Given the description of an element on the screen output the (x, y) to click on. 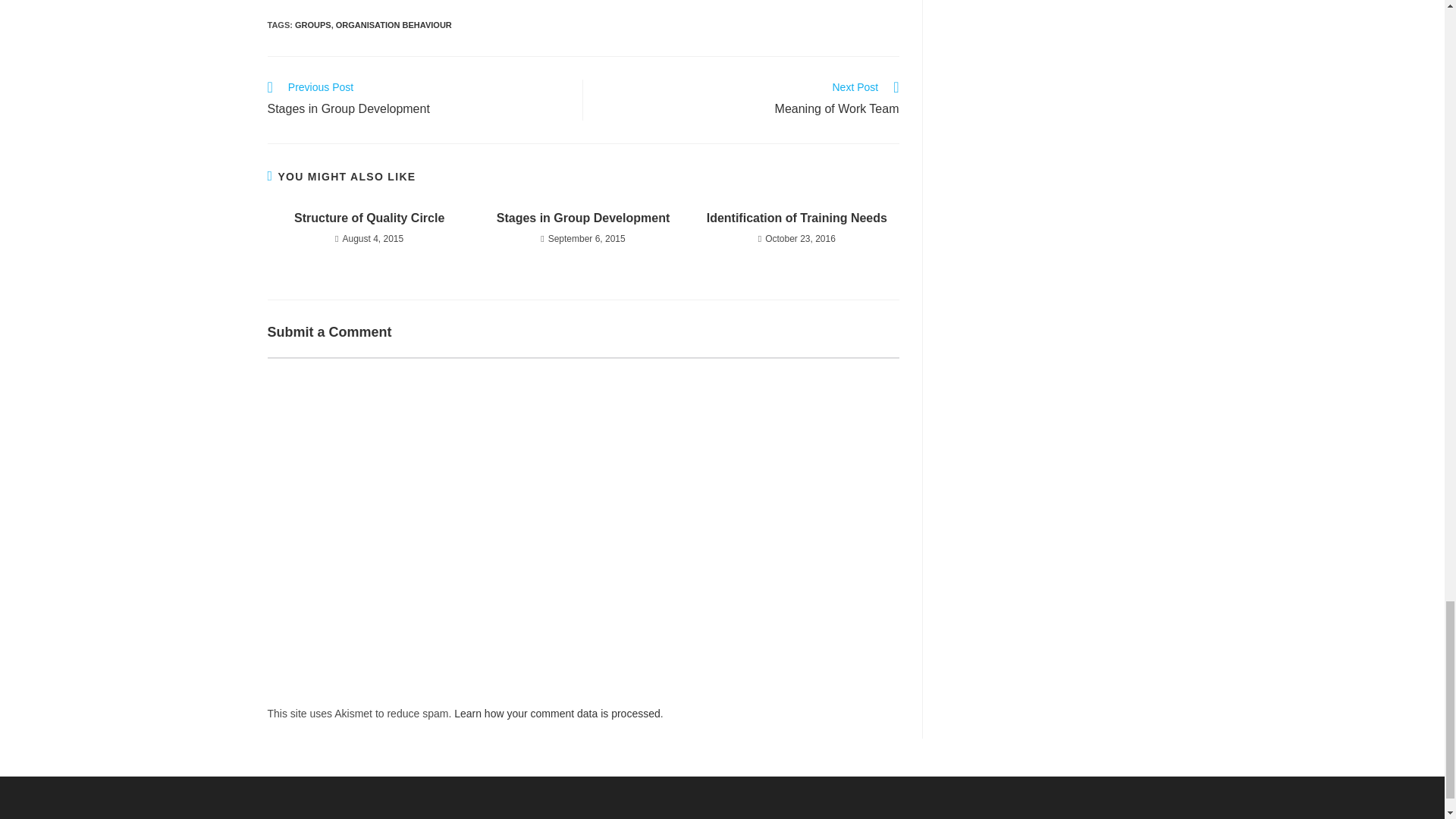
GROUPS (748, 99)
Comment Form (313, 24)
ORGANISATION BEHAVIOUR (416, 99)
